Given the description of an element on the screen output the (x, y) to click on. 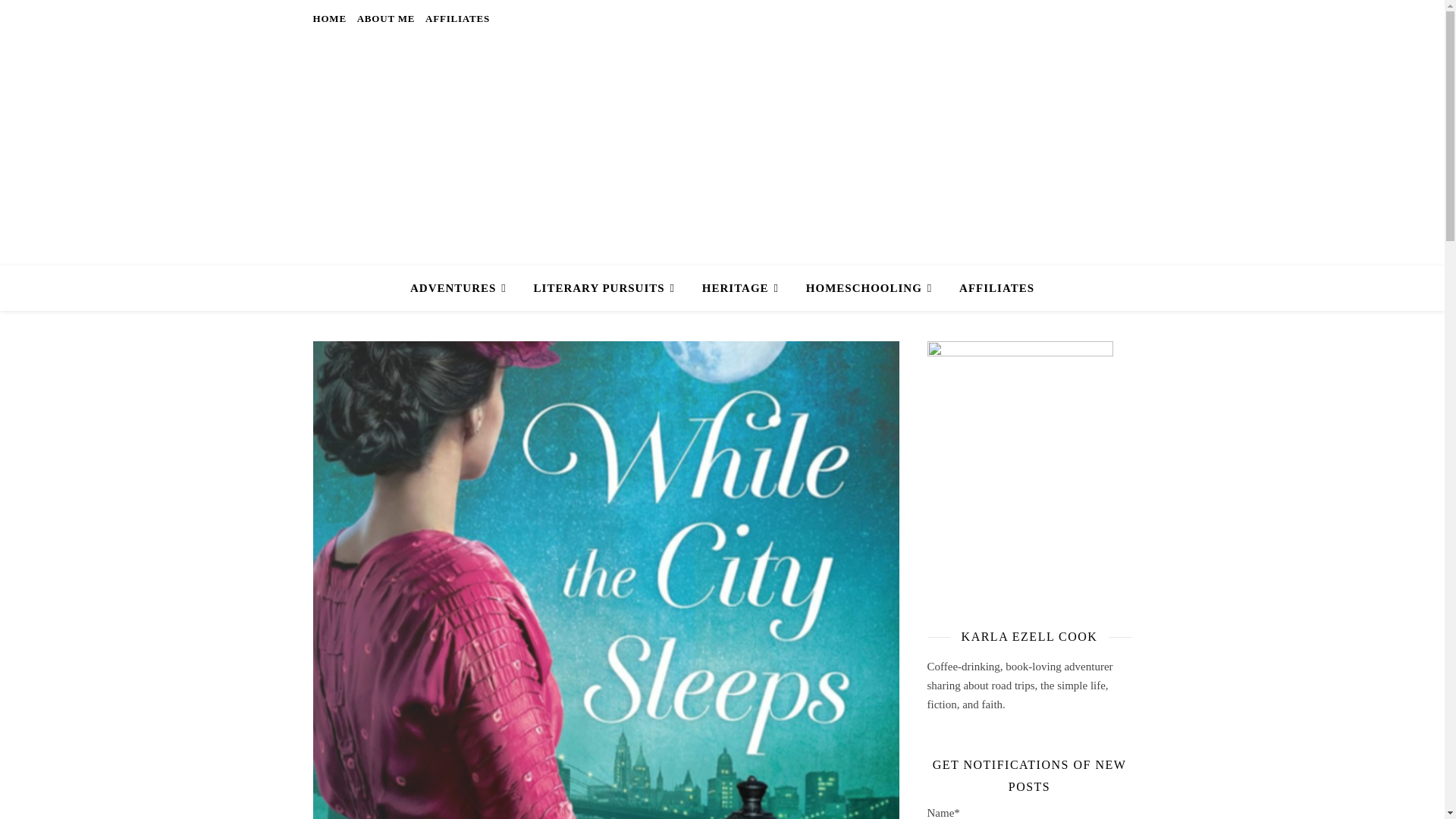
HOMESCHOOLING (868, 288)
ADVENTURES (464, 288)
LITERARY PURSUITS (604, 288)
HOME (331, 18)
ABOUT ME (386, 18)
HERITAGE (740, 288)
AFFILIATES (455, 18)
AFFILIATES (990, 288)
